Given the description of an element on the screen output the (x, y) to click on. 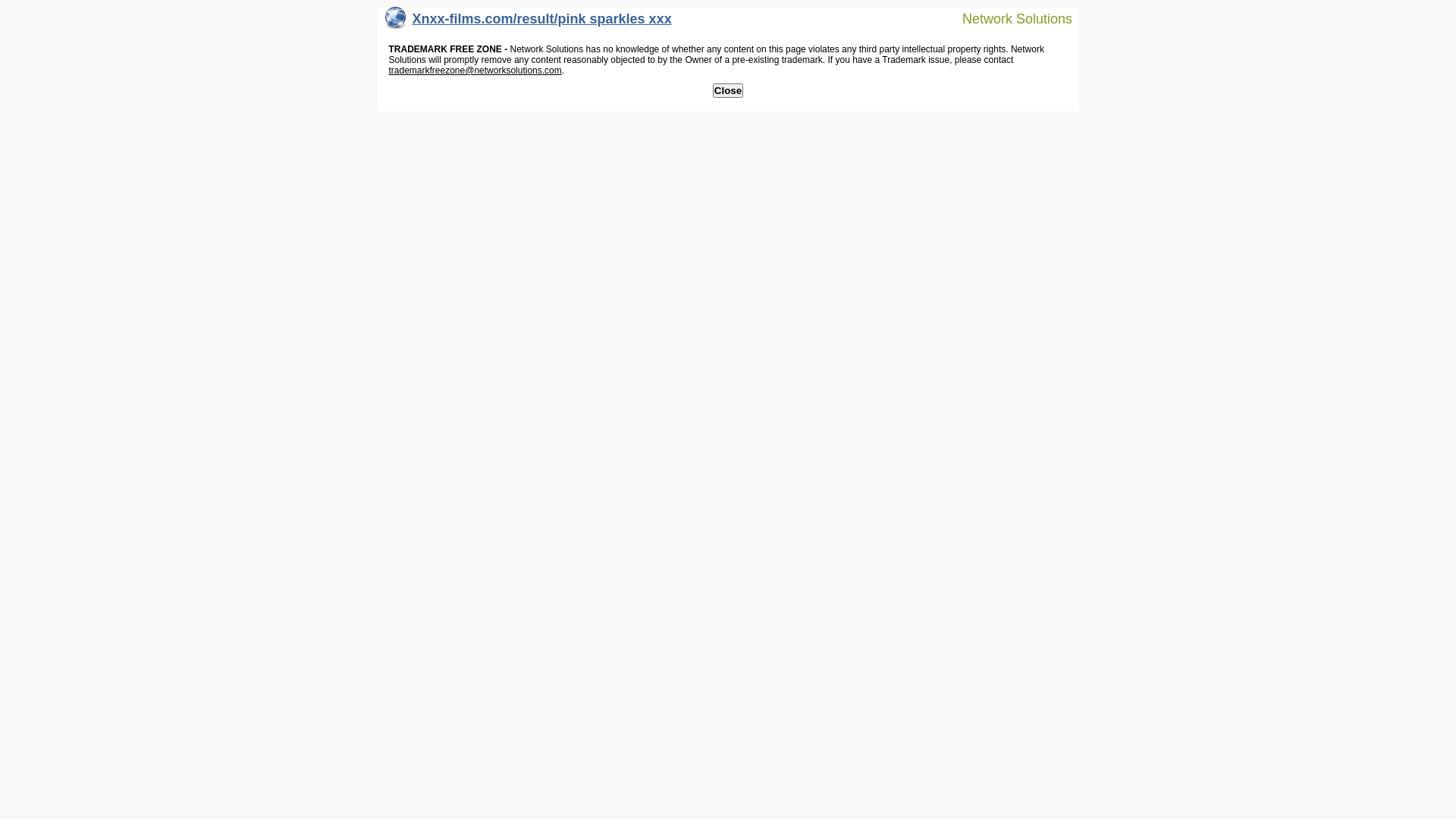
Network Solutions Element type: text (1007, 17)
Close Element type: text (727, 90)
Xnxx-films.com/result/pink sparkles xxx Element type: text (528, 21)
trademarkfreezone@networksolutions.com Element type: text (474, 70)
